Given the description of an element on the screen output the (x, y) to click on. 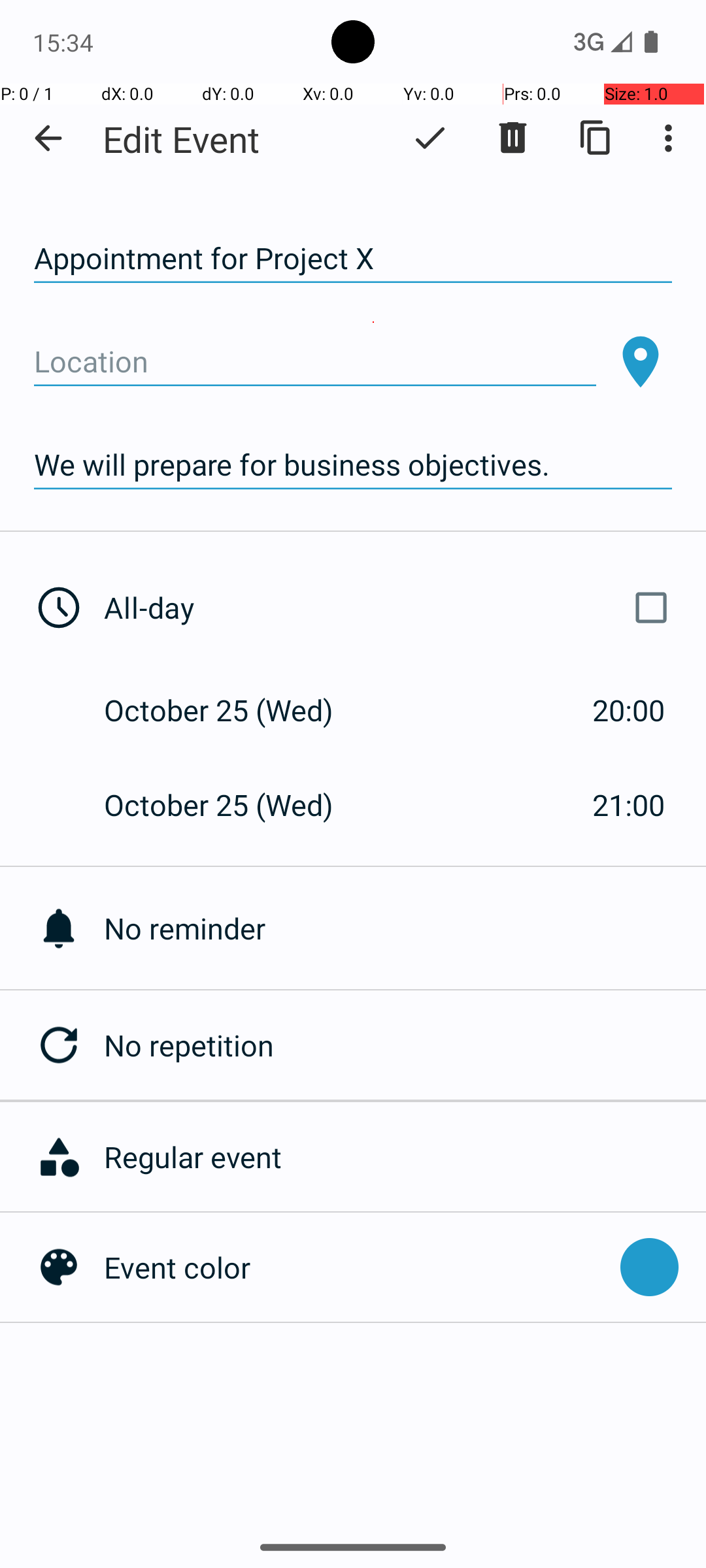
We will prepare for business objectives. Element type: android.widget.EditText (352, 465)
October 25 (Wed) Element type: android.widget.TextView (232, 709)
21:00 Element type: android.widget.TextView (628, 804)
